Given the description of an element on the screen output the (x, y) to click on. 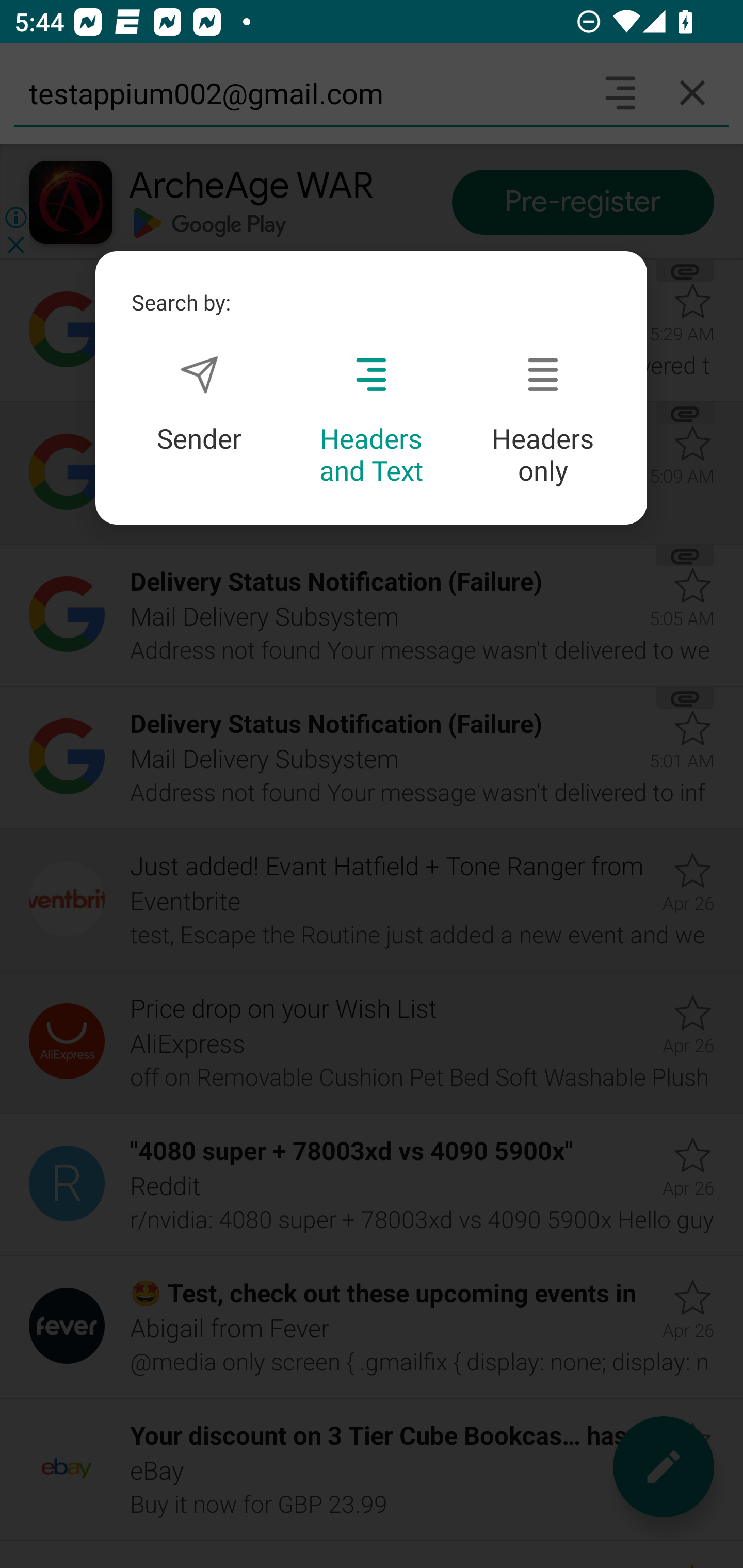
Sender (199, 404)
Headers and Text (371, 420)
Headers only (542, 420)
